Given the description of an element on the screen output the (x, y) to click on. 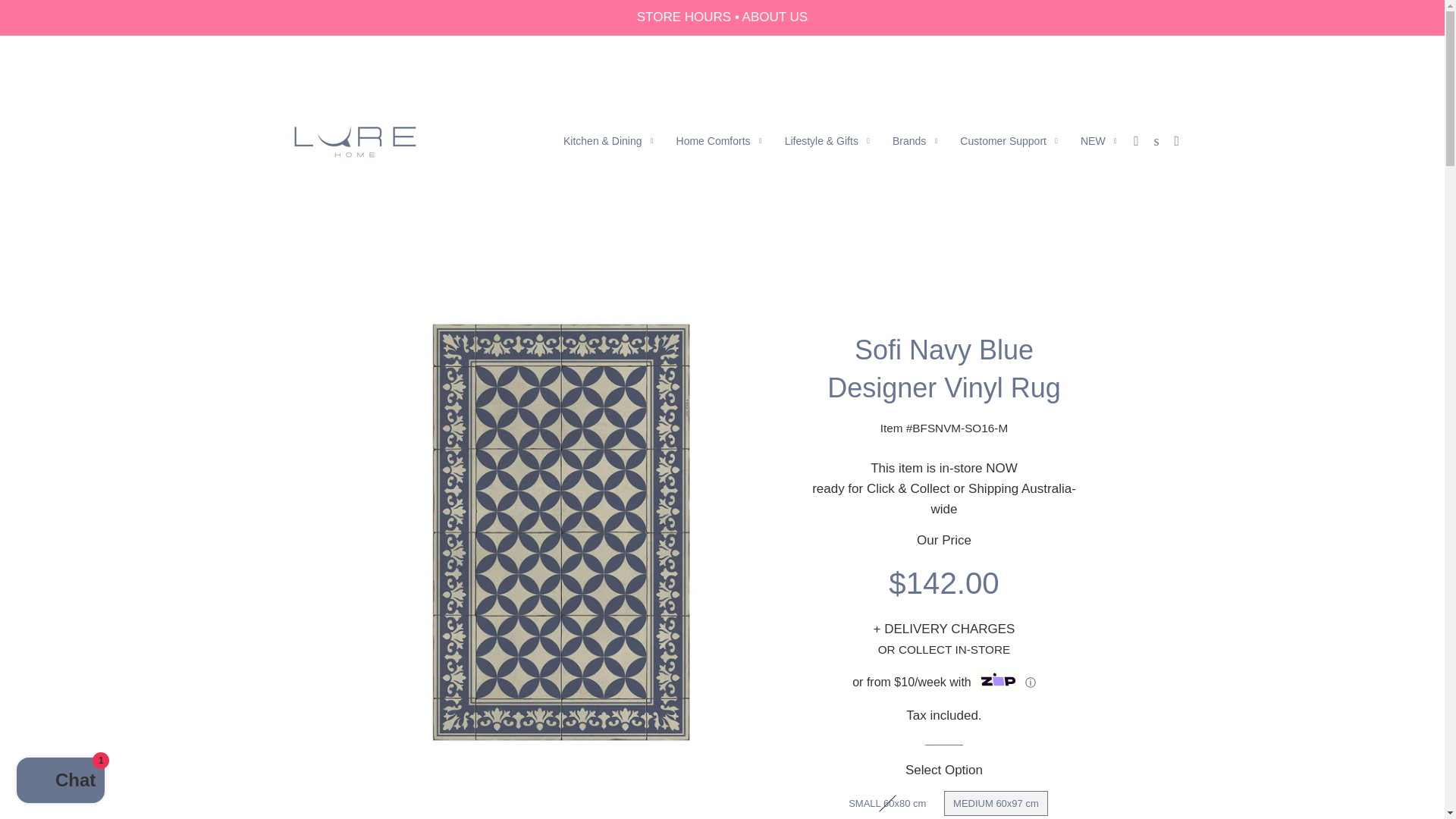
Shopify online store chat (60, 781)
